Given the description of an element on the screen output the (x, y) to click on. 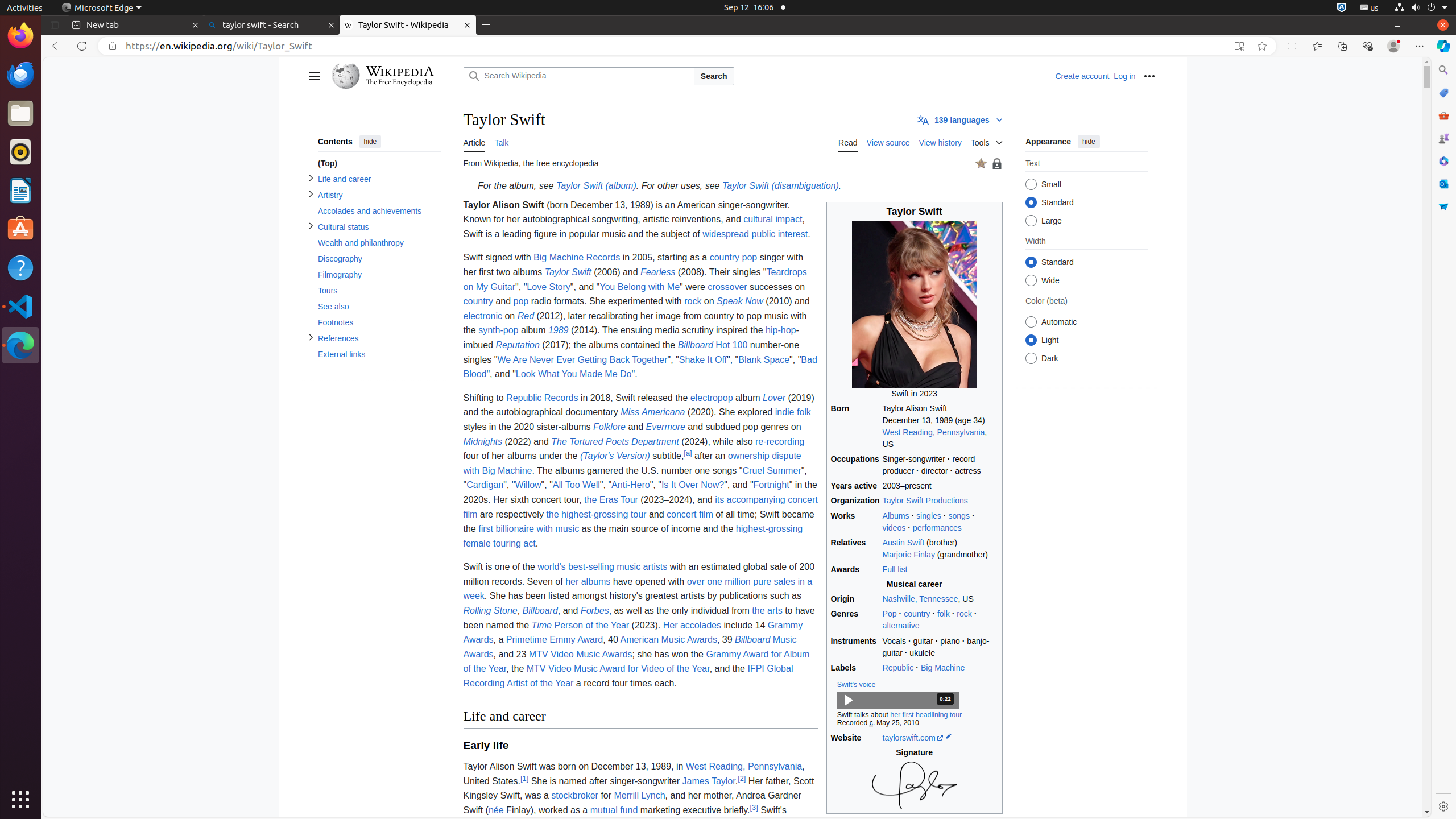
Cultural status Element type: link (378, 226)
singles Element type: link (928, 515)
Forbes Element type: link (594, 610)
Discography Element type: link (378, 258)
Refresh Element type: push-button (81, 45)
